Given the description of an element on the screen output the (x, y) to click on. 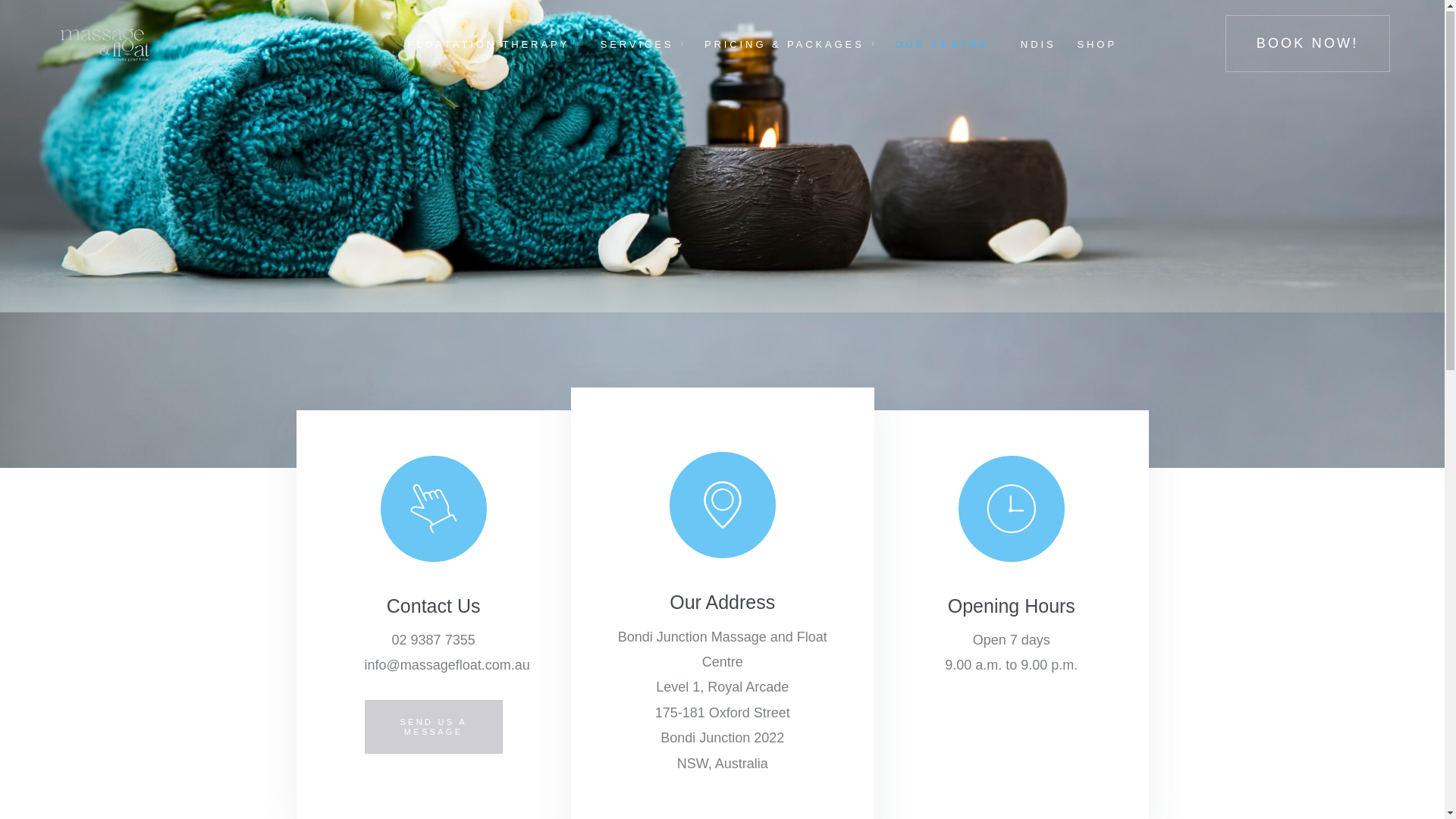
SEND US A MESSAGE Element type: text (433, 727)
SHOP Element type: text (1097, 44)
OUR CENTRE Element type: text (941, 44)
FLOATATION THERAPY Element type: text (488, 44)
PRICING & PACKAGES Element type: text (784, 44)
NDIS Element type: text (1038, 44)
BOOK NOW! Element type: text (1307, 43)
SERVICES Element type: text (637, 44)
